Given the description of an element on the screen output the (x, y) to click on. 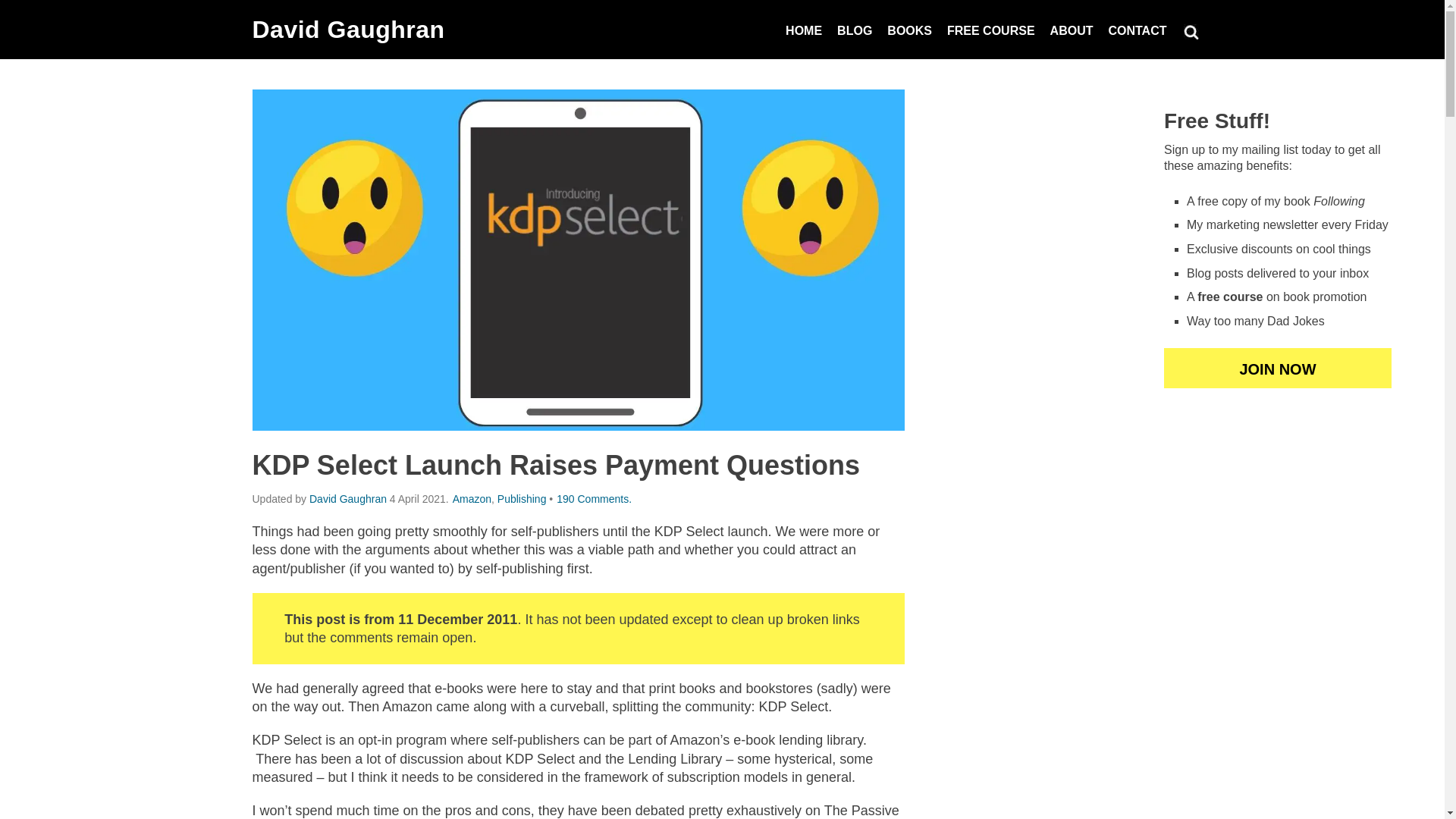
190 Comments. (593, 499)
David Gaughran (347, 499)
HOME (803, 19)
BLOG (854, 19)
David Gaughran (347, 29)
FREE COURSE (990, 19)
Publishing (522, 499)
CONTACT (1136, 19)
Amazon (472, 499)
